Given the description of an element on the screen output the (x, y) to click on. 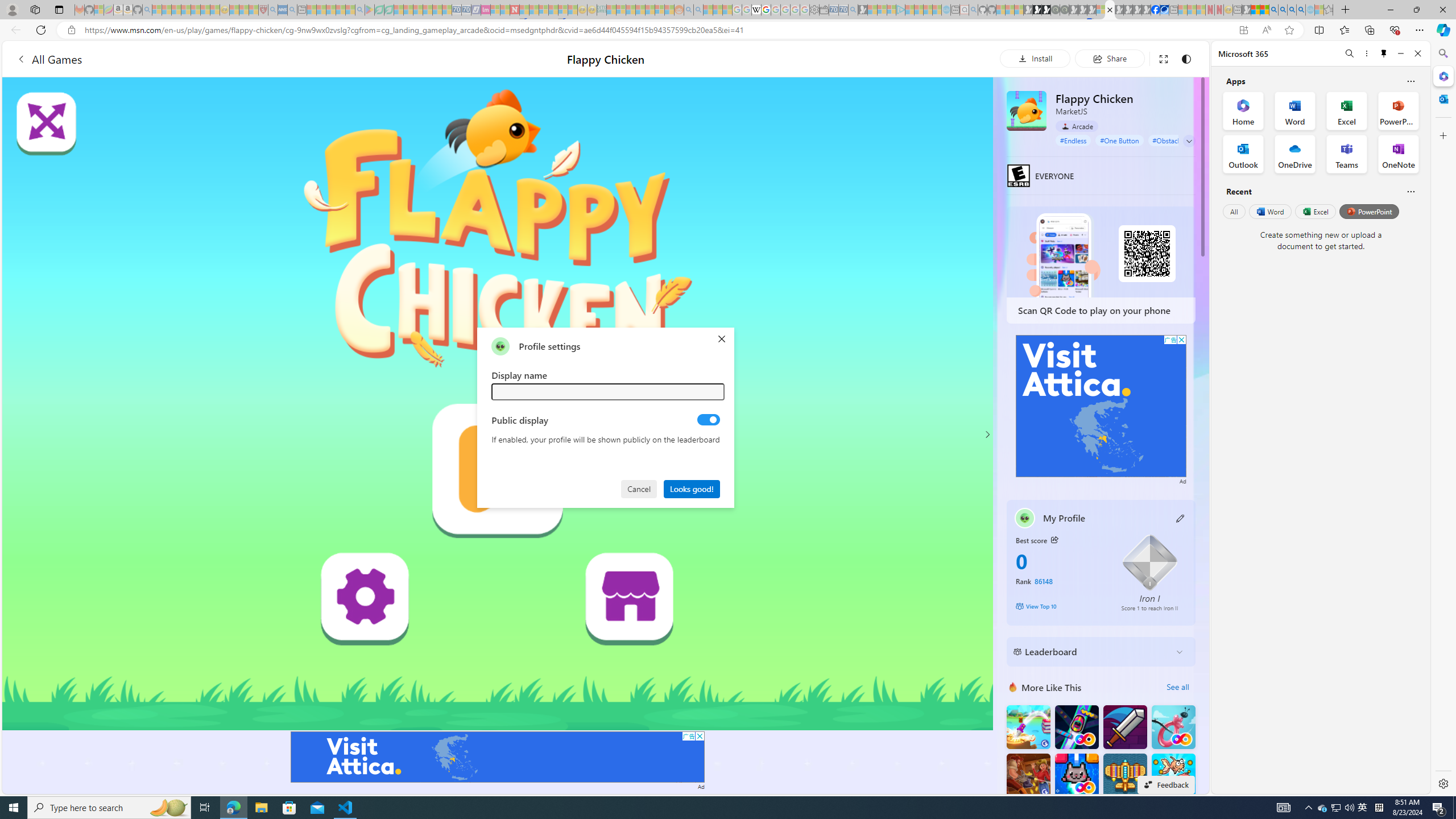
AutomationID: cbb (1181, 339)
Saloon Robbery (1028, 775)
PowerPoint (1369, 210)
Copilot (Ctrl+Shift+.) (1442, 29)
Bumper Car FRVR (1076, 726)
Ad (1182, 480)
Teams Office App (1346, 154)
Wallet - Sleeping (823, 9)
Is this helpful? (1410, 191)
Recipes - MSN - Sleeping (234, 9)
